Given the description of an element on the screen output the (x, y) to click on. 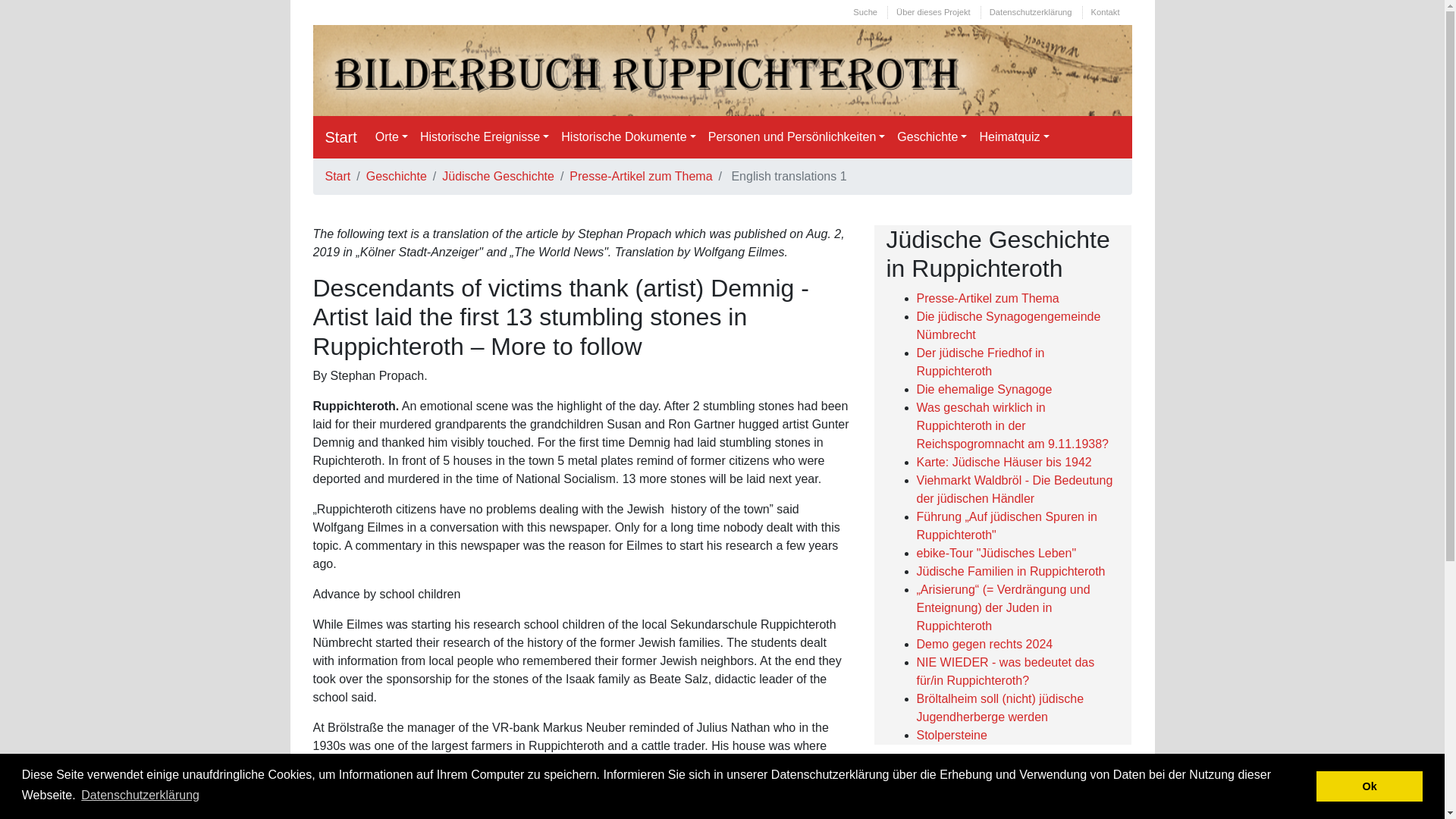
Orte (391, 137)
Kontakt (1108, 11)
Suche (868, 11)
Historische Ereignisse (483, 137)
Historische Dokumente (627, 137)
Kontakt (1108, 11)
Suche (868, 11)
Start (340, 137)
Bilderbuch Ruppichteroth Startseite (340, 137)
Orte (391, 137)
